Given the description of an element on the screen output the (x, y) to click on. 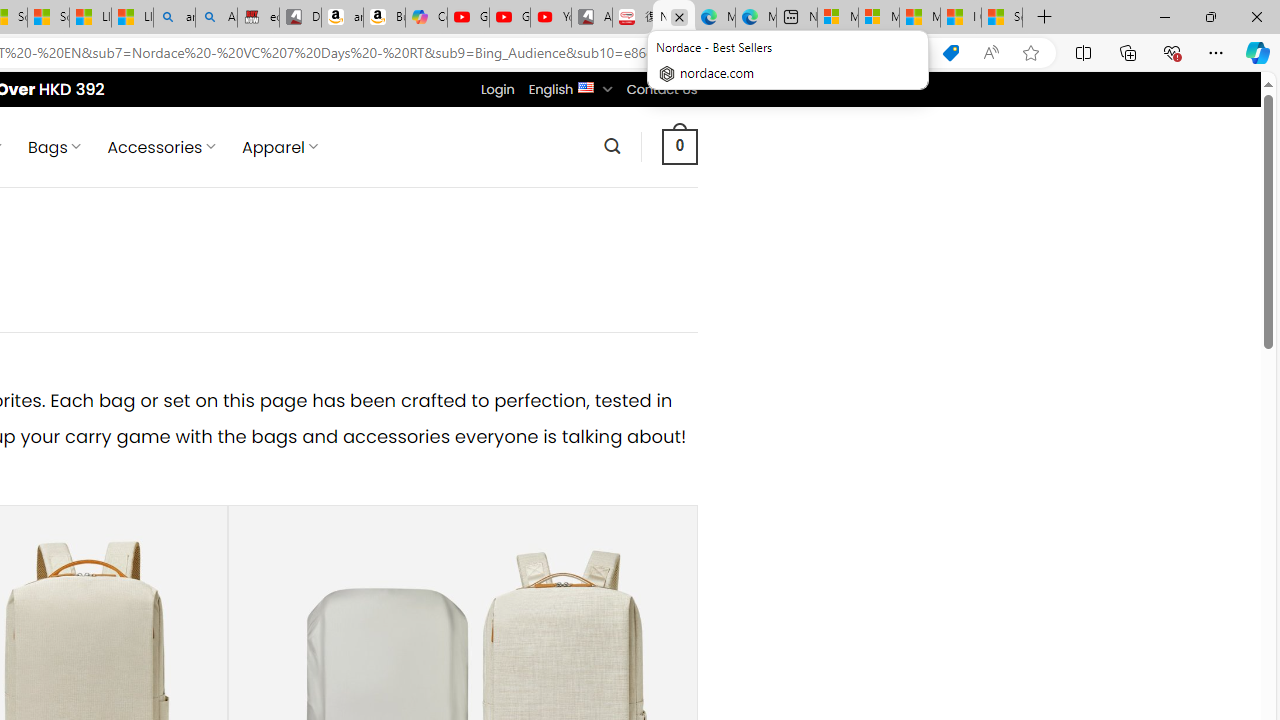
All Cubot phones (591, 17)
Collections (1128, 52)
Contact Us (661, 89)
English (586, 86)
Split screen (1083, 52)
Microsoft Start (919, 17)
Copilot (425, 17)
amazon - Search (173, 17)
Restore (1210, 16)
Browser essentials (1171, 52)
Amazon Echo Dot PNG - Search Images (215, 17)
